Given the description of an element on the screen output the (x, y) to click on. 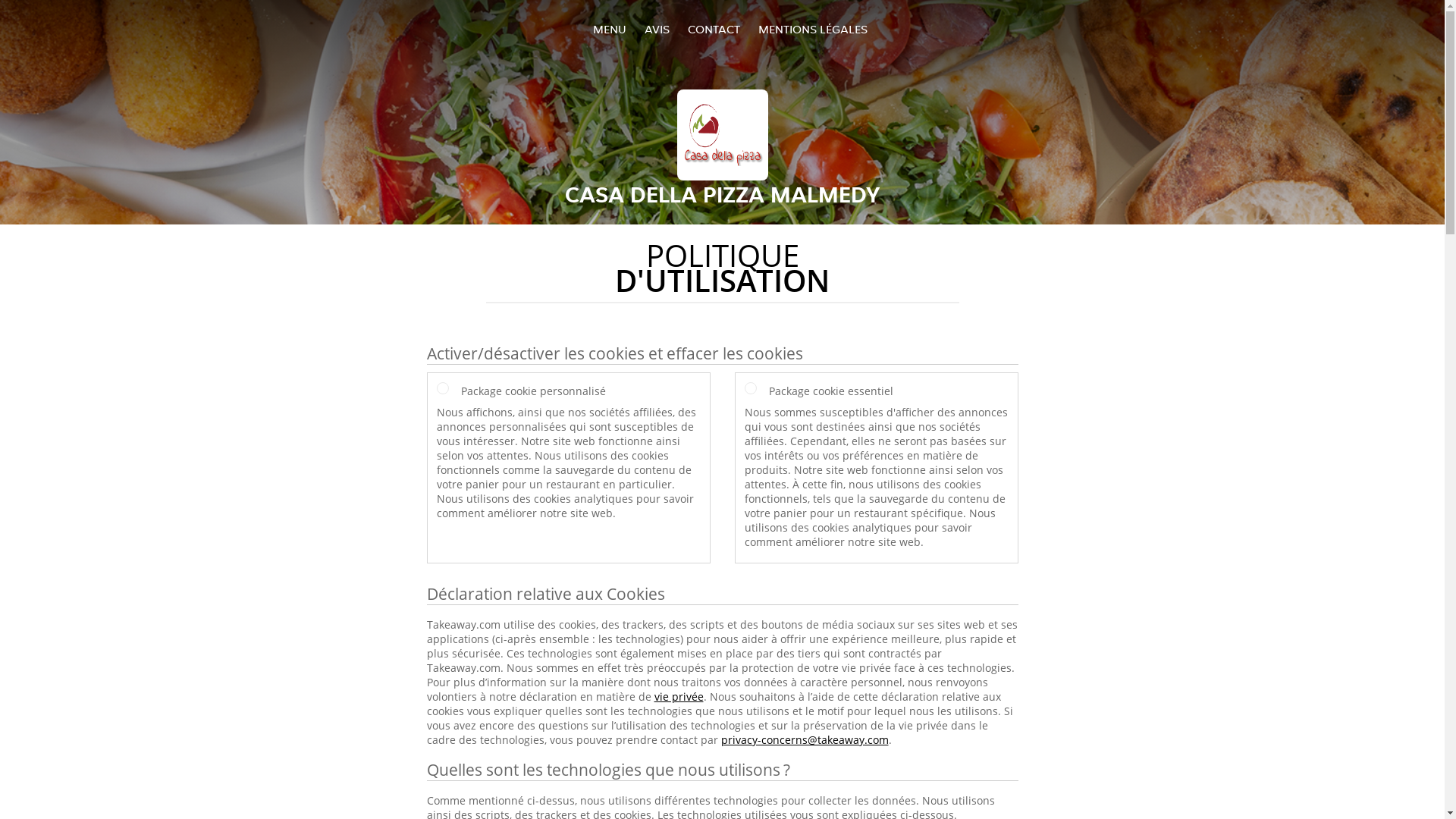
CONTACT Element type: text (713, 29)
MENU Element type: text (609, 29)
privacy-concerns@takeaway.com Element type: text (804, 739)
AVIS Element type: text (656, 29)
